Given the description of an element on the screen output the (x, y) to click on. 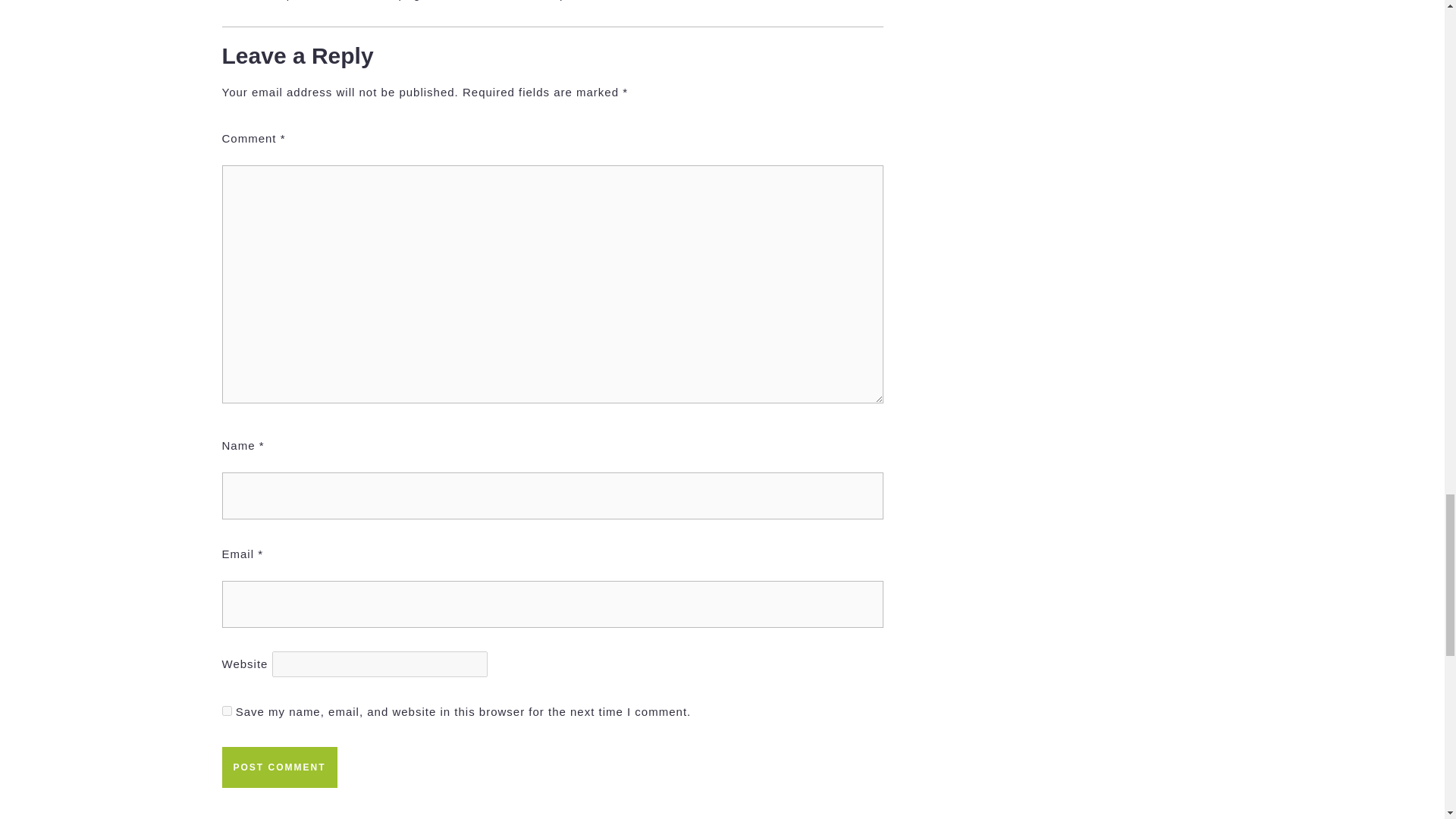
yes (226, 710)
Post Comment (278, 766)
Post Comment (386, 808)
